Given the description of an element on the screen output the (x, y) to click on. 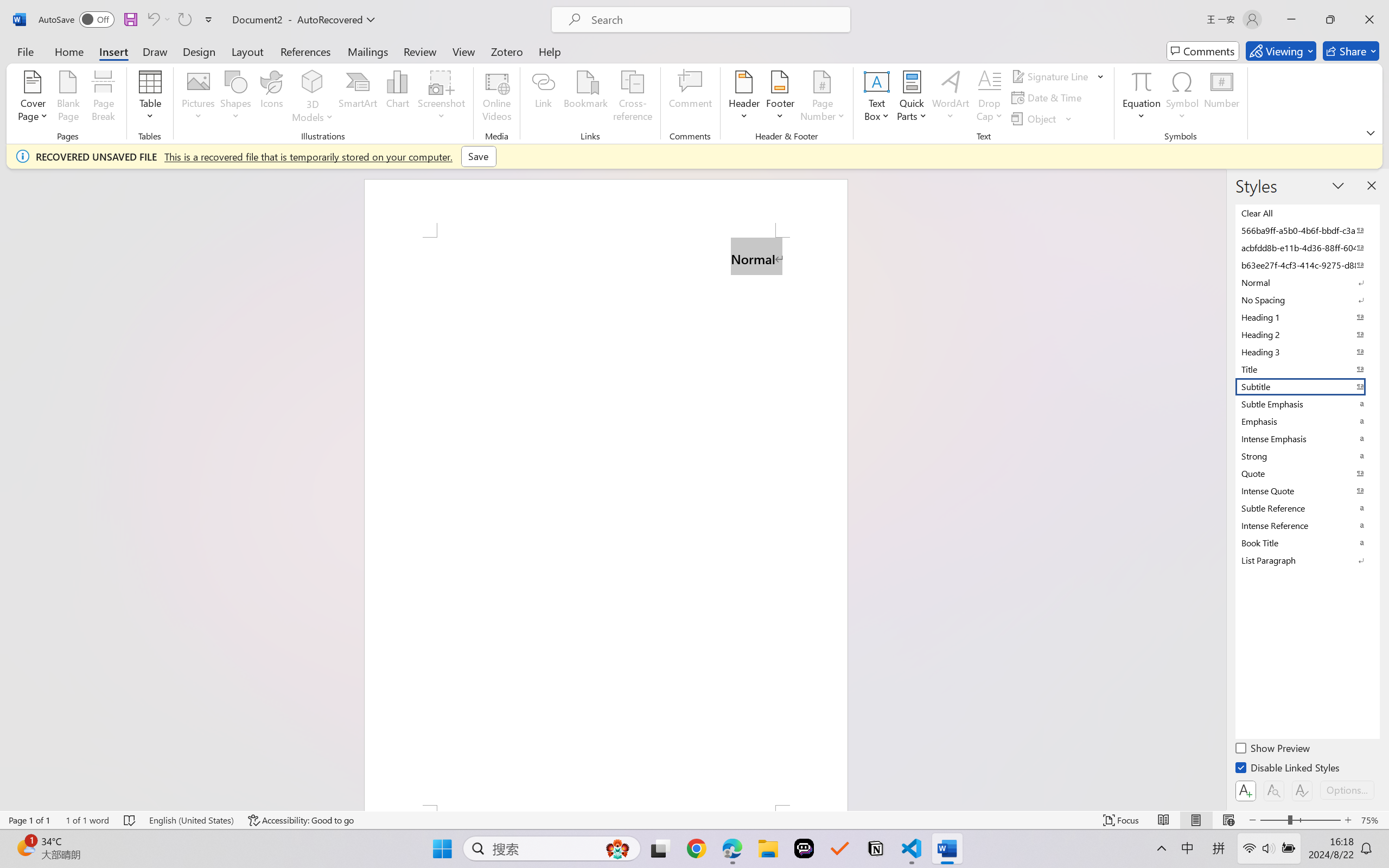
Quick Parts (912, 97)
SmartArt... (358, 97)
Heading 2 (1306, 334)
Pictures (198, 97)
Object... (1042, 118)
Equation (1141, 81)
3D Models (312, 81)
Text Box (876, 97)
Class: NetUIScrollBar (1219, 489)
Task Pane Options (1338, 185)
Can't Repeat (184, 19)
